Given the description of an element on the screen output the (x, y) to click on. 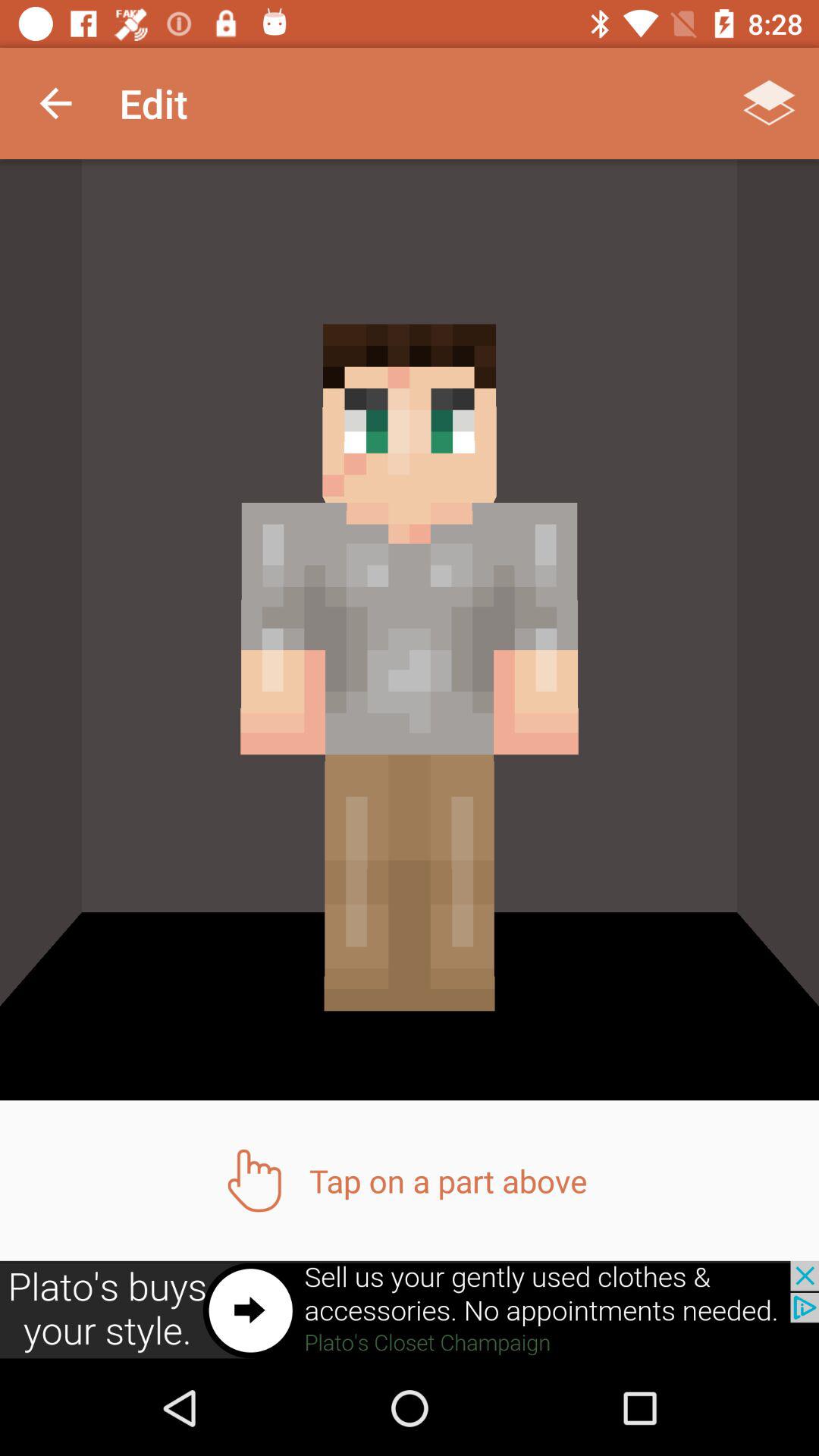
open advertisement (409, 1310)
